Given the description of an element on the screen output the (x, y) to click on. 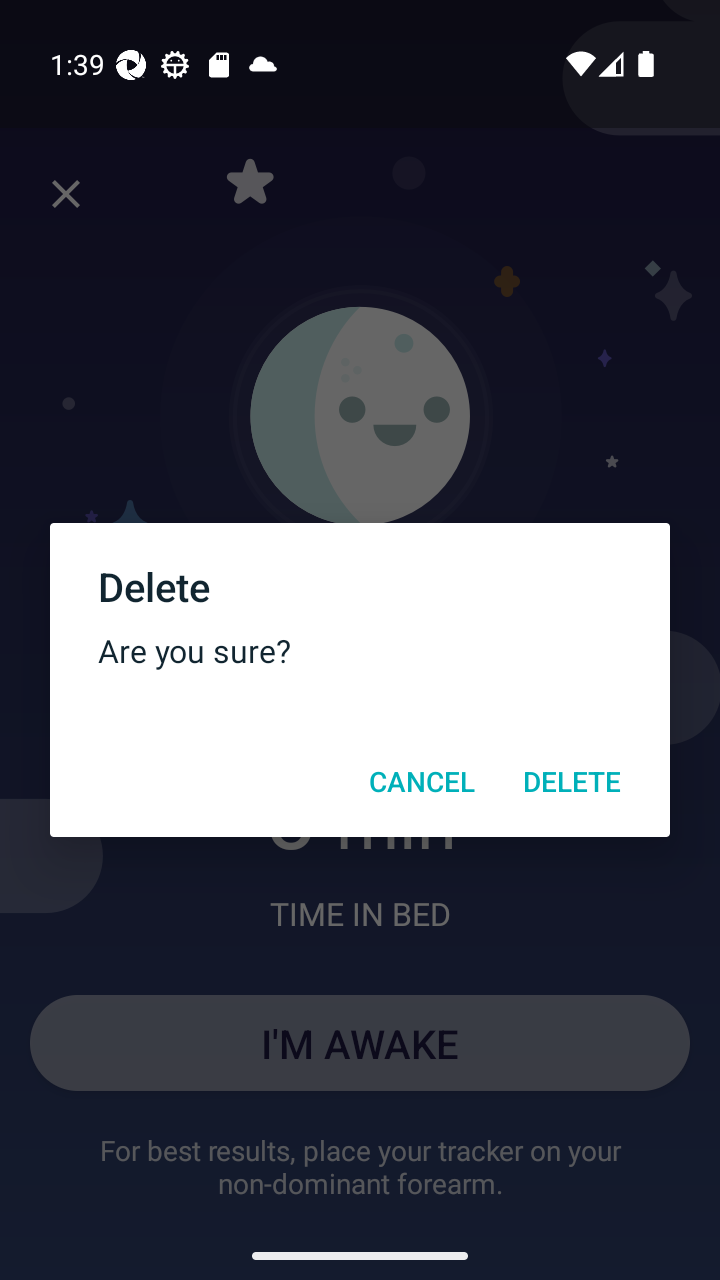
CANCEL (421, 781)
DELETE (571, 781)
